Given the description of an element on the screen output the (x, y) to click on. 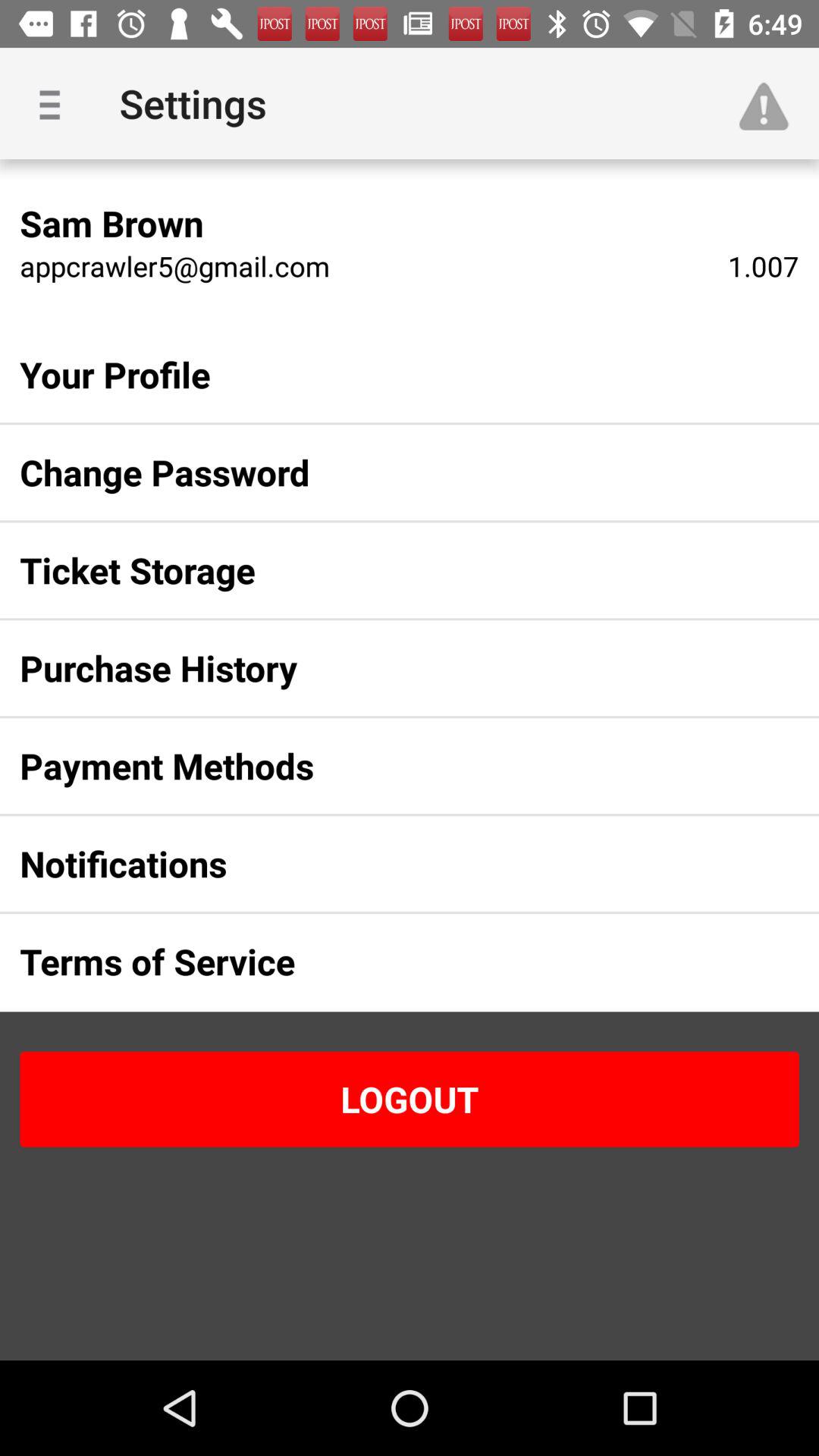
choose the item above the sam brown icon (55, 103)
